Given the description of an element on the screen output the (x, y) to click on. 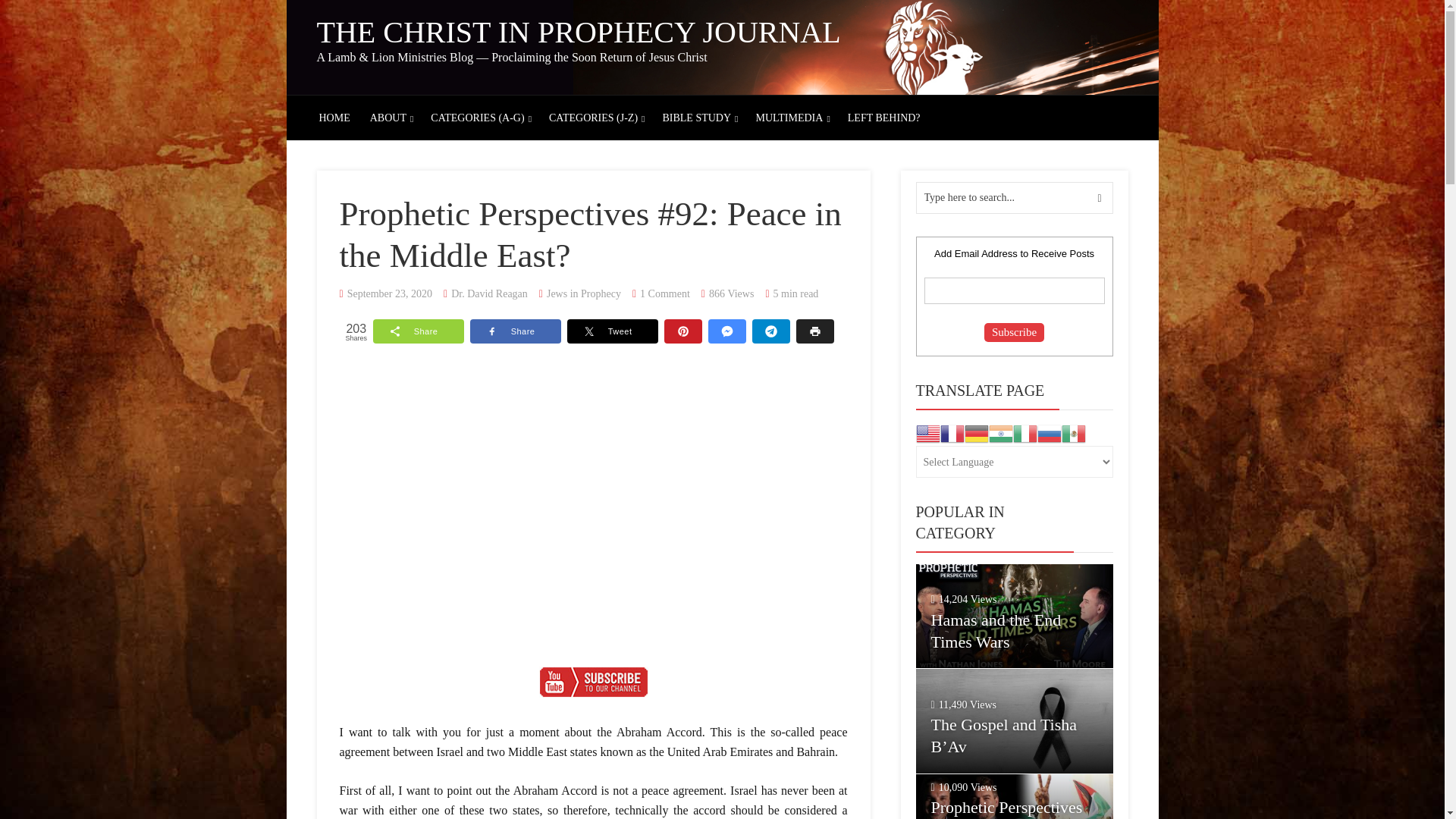
The Christ in Prophecy Journal (579, 32)
Hindi (1000, 432)
Italian (1024, 432)
Type here to search... (1014, 197)
German (975, 432)
Subscribe (1013, 332)
French (951, 432)
Type here to search... (1014, 197)
English (927, 432)
